Given the description of an element on the screen output the (x, y) to click on. 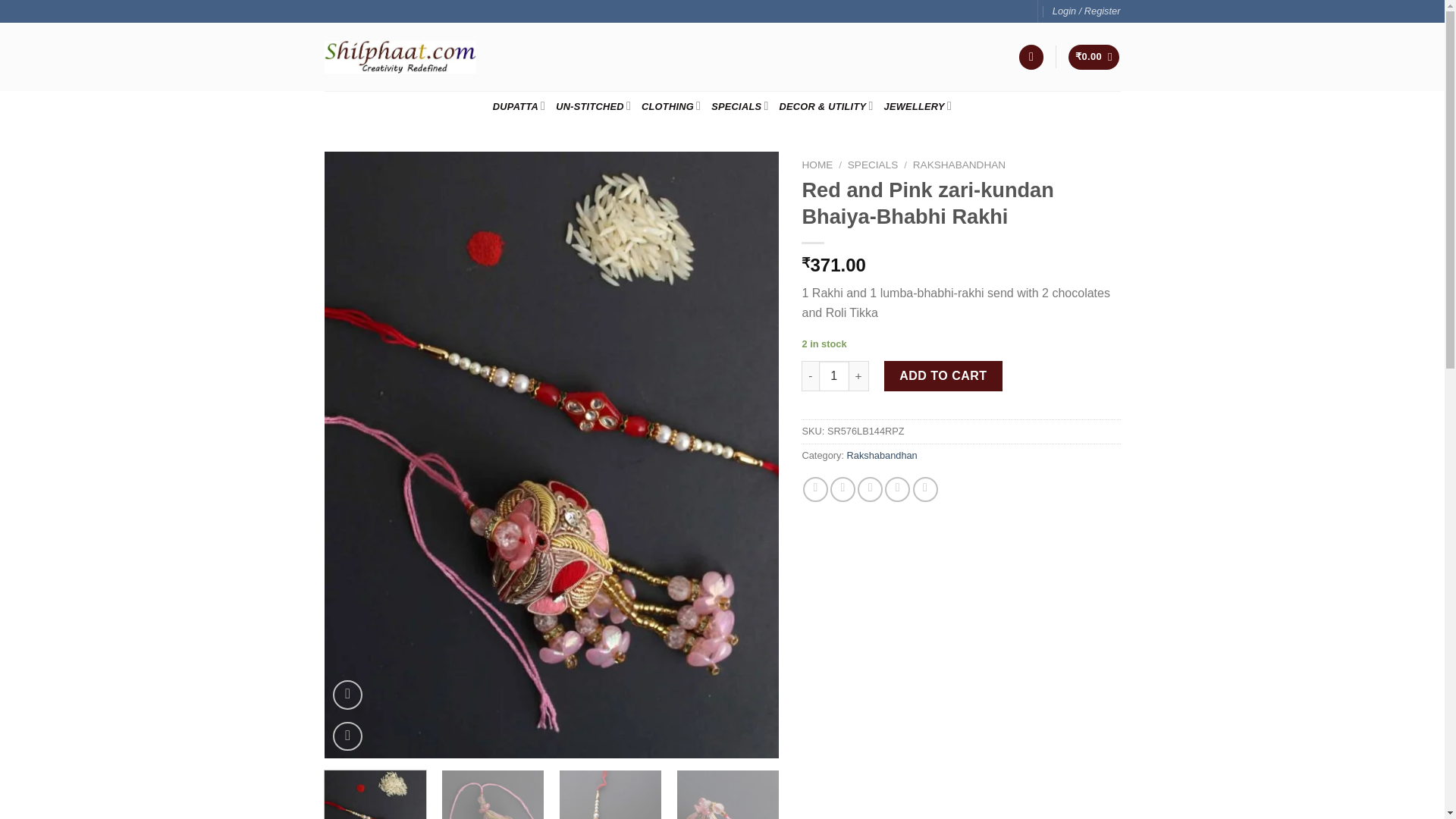
Cart (1093, 57)
Pin on Pinterest (897, 489)
Zoom (347, 736)
Share on Twitter (842, 489)
Share on Facebook (815, 489)
CLOTHING (671, 105)
DUPATTA (518, 105)
Share on Tumblr (924, 489)
Video (347, 695)
1 (833, 376)
UN-STITCHED (593, 105)
Email to a Friend (869, 489)
